Given the description of an element on the screen output the (x, y) to click on. 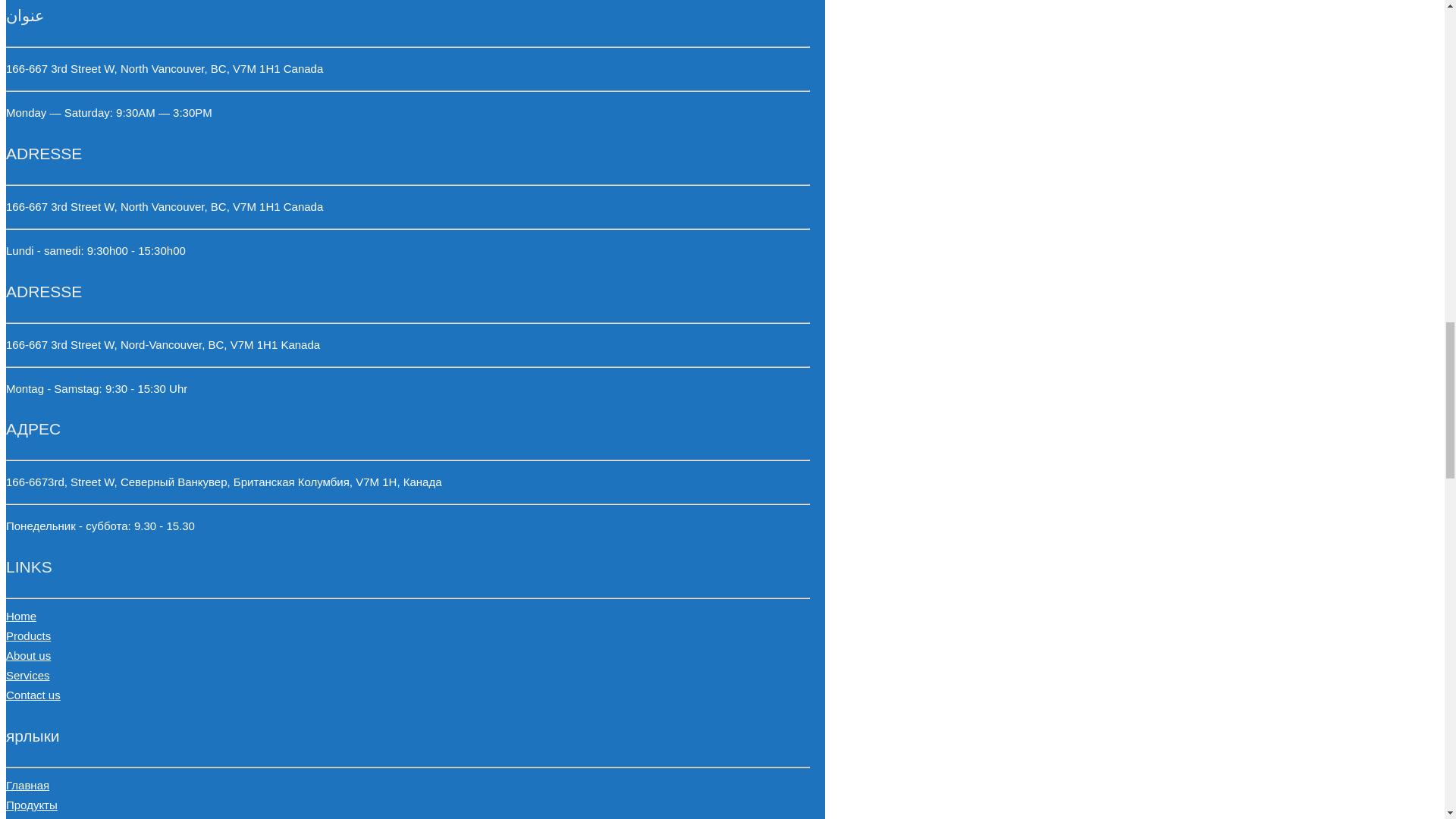
Home (20, 615)
About us (27, 655)
Contact us (33, 694)
Products (27, 635)
Services (27, 675)
